Given the description of an element on the screen output the (x, y) to click on. 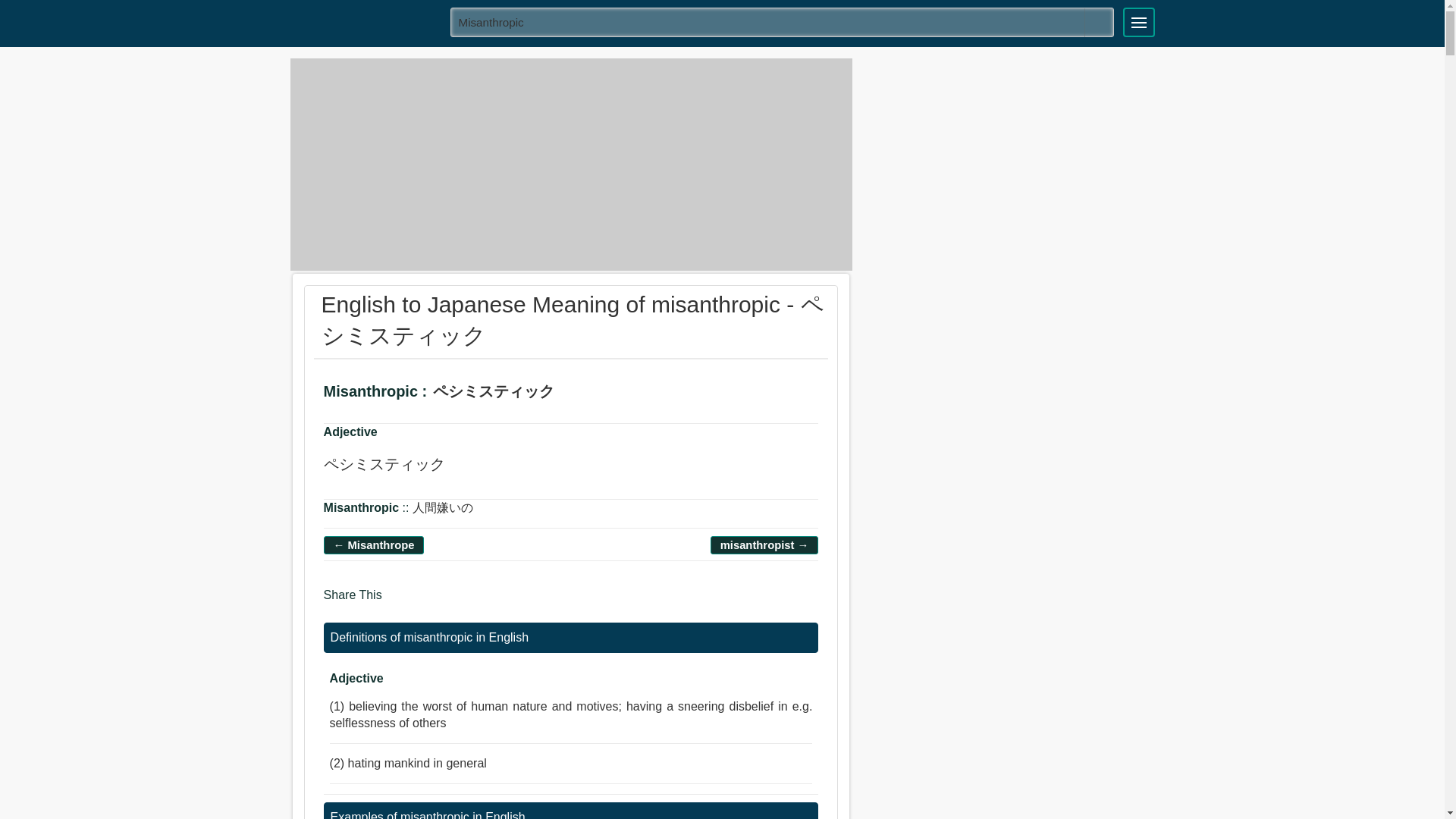
Search (1098, 22)
Say The Word (579, 393)
More Share (485, 602)
Linkedin (458, 602)
English to Japanese meaning of misanthrope (373, 544)
misanthropic (782, 21)
Add To Favorites (621, 393)
Facebook (398, 602)
English to Japanese meaning of misanthropist (764, 544)
Twitter (428, 602)
JAPANESE (365, 20)
